Given the description of an element on the screen output the (x, y) to click on. 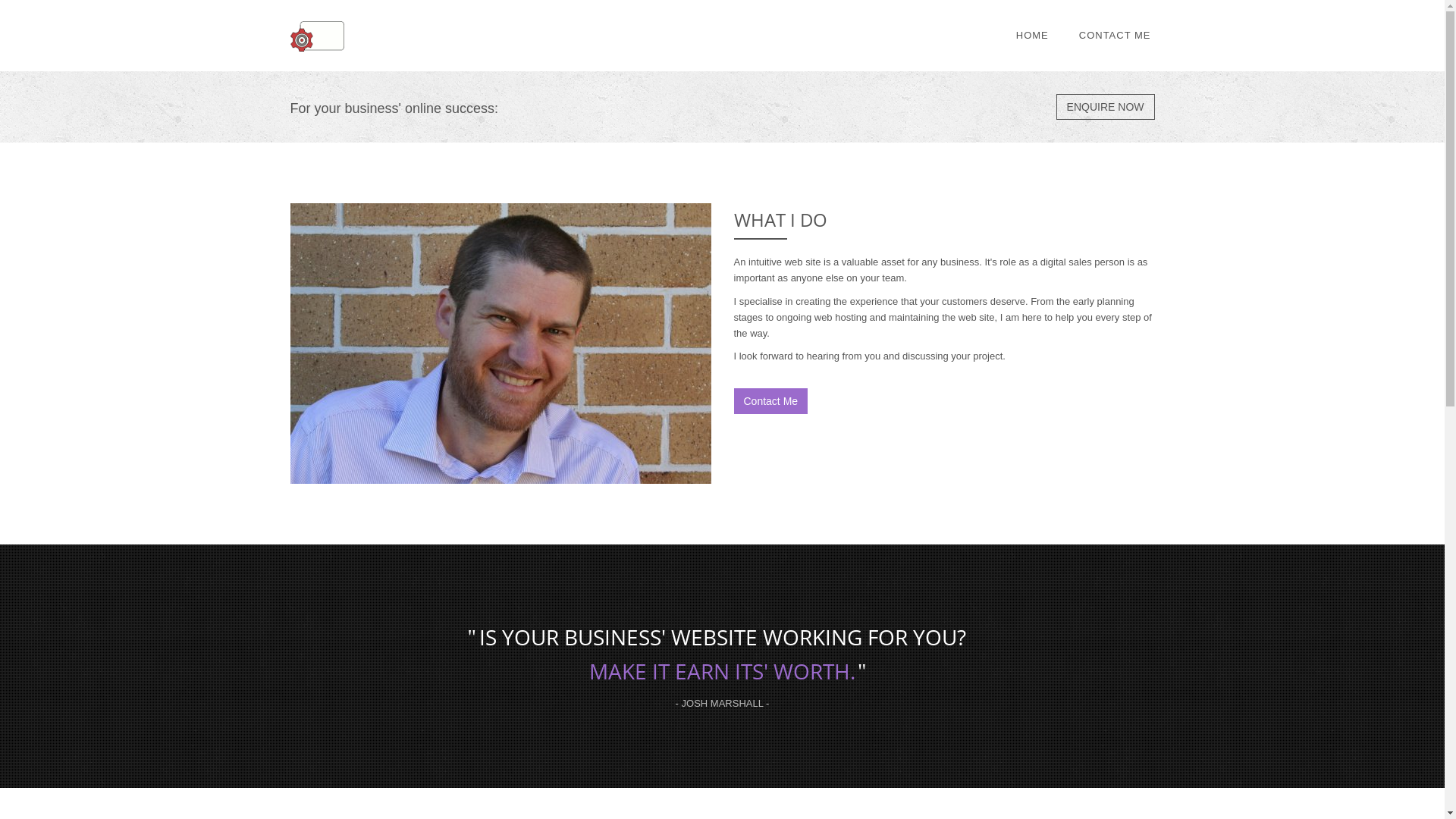
HOME Element type: text (1032, 35)
CONTACT ME Element type: text (1114, 35)
ENQUIRE NOW Element type: text (1105, 106)
Contact Me Element type: text (771, 401)
